Given the description of an element on the screen output the (x, y) to click on. 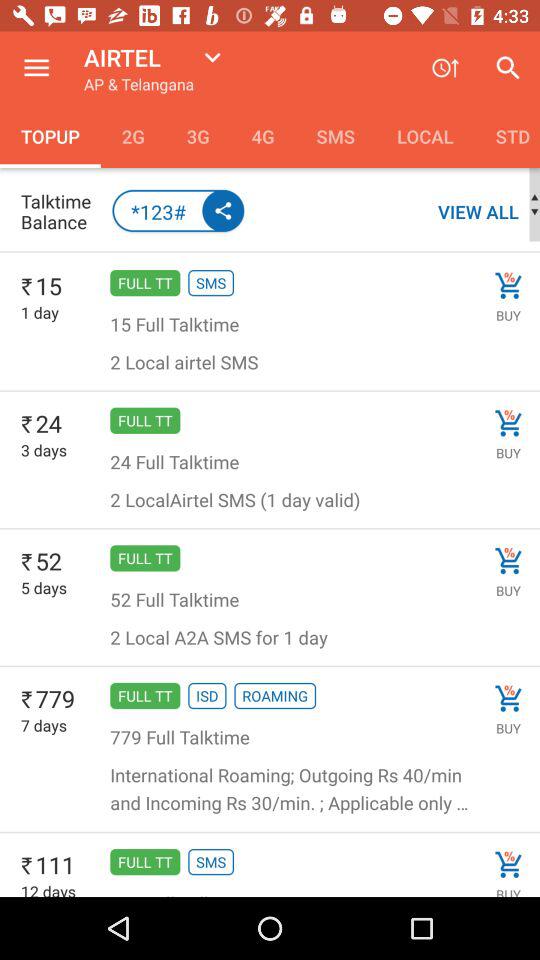
turn off the icon next to 4g icon (197, 136)
